Given the description of an element on the screen output the (x, y) to click on. 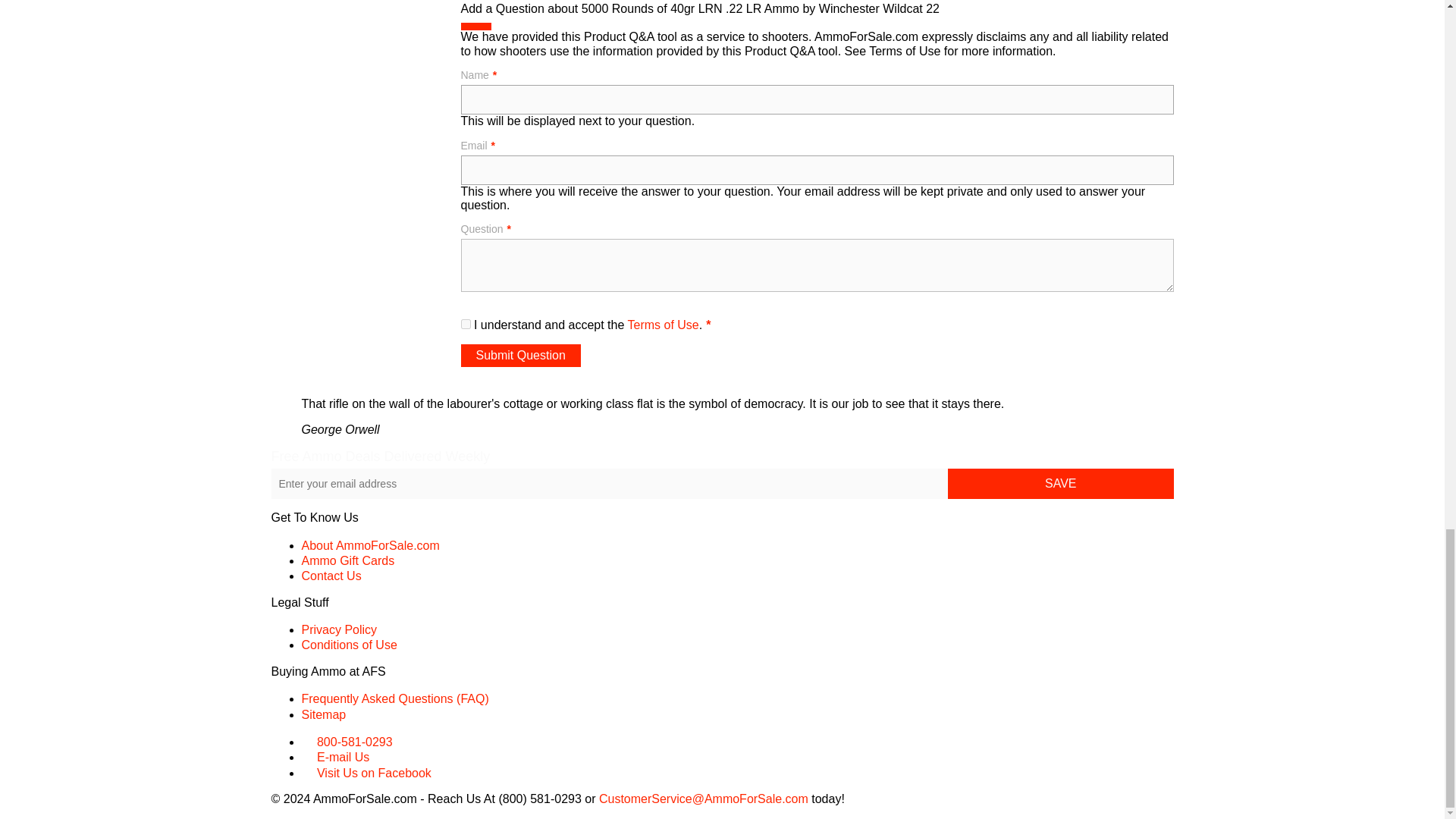
Save (1060, 483)
on (465, 324)
